Given the description of an element on the screen output the (x, y) to click on. 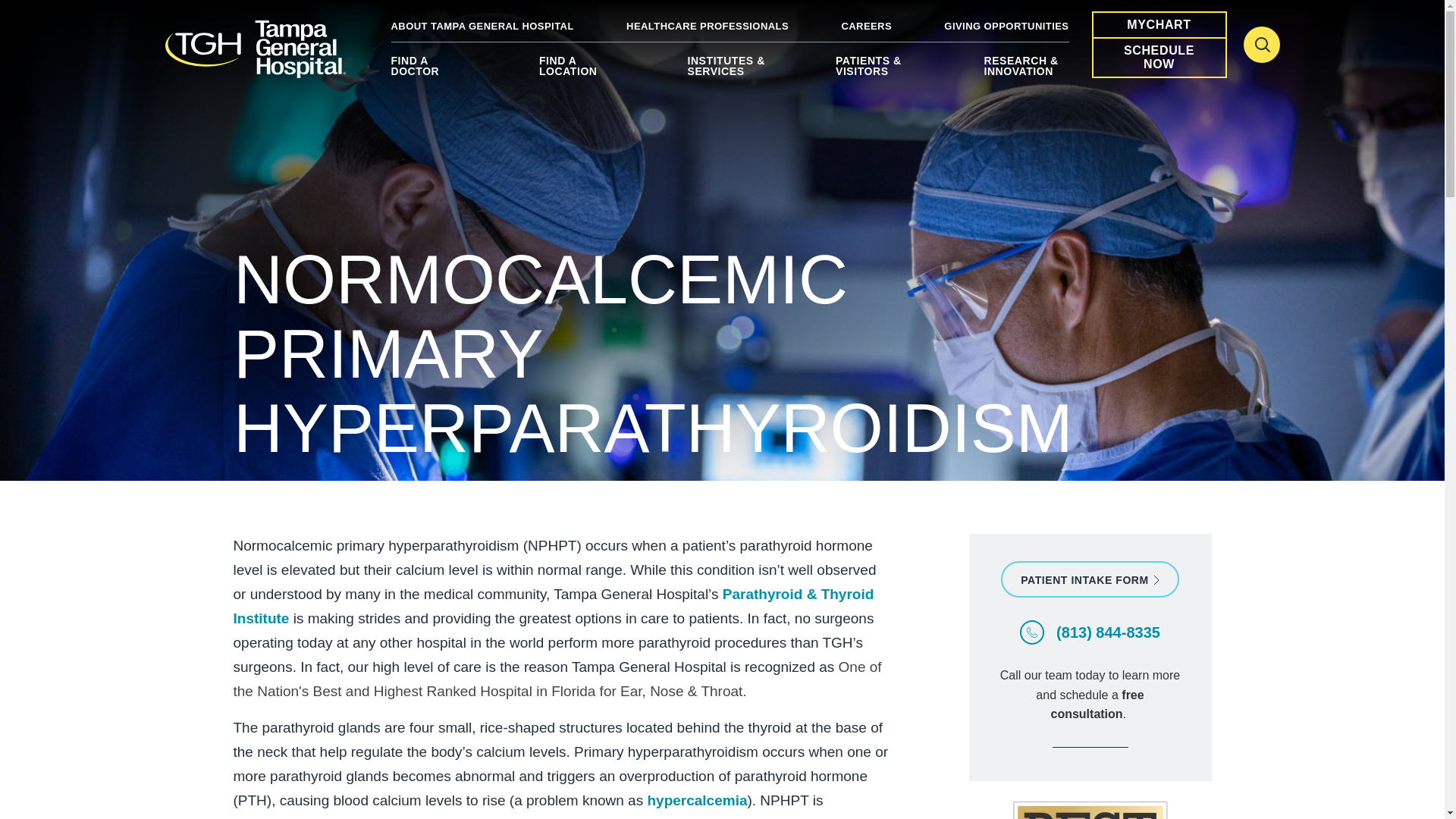
CAREERS (866, 25)
FIND A LOCATION (581, 71)
HEALTHCARE PROFESSIONALS (707, 25)
ABOUT TAMPA GENERAL HOSPITAL (482, 25)
GIVING OPPORTUNITIES (1005, 25)
FIND A DOCTOR (433, 71)
Toggle Main Search (1261, 44)
SCHEDULE NOW (1159, 57)
MYCHART (1159, 24)
